Given the description of an element on the screen output the (x, y) to click on. 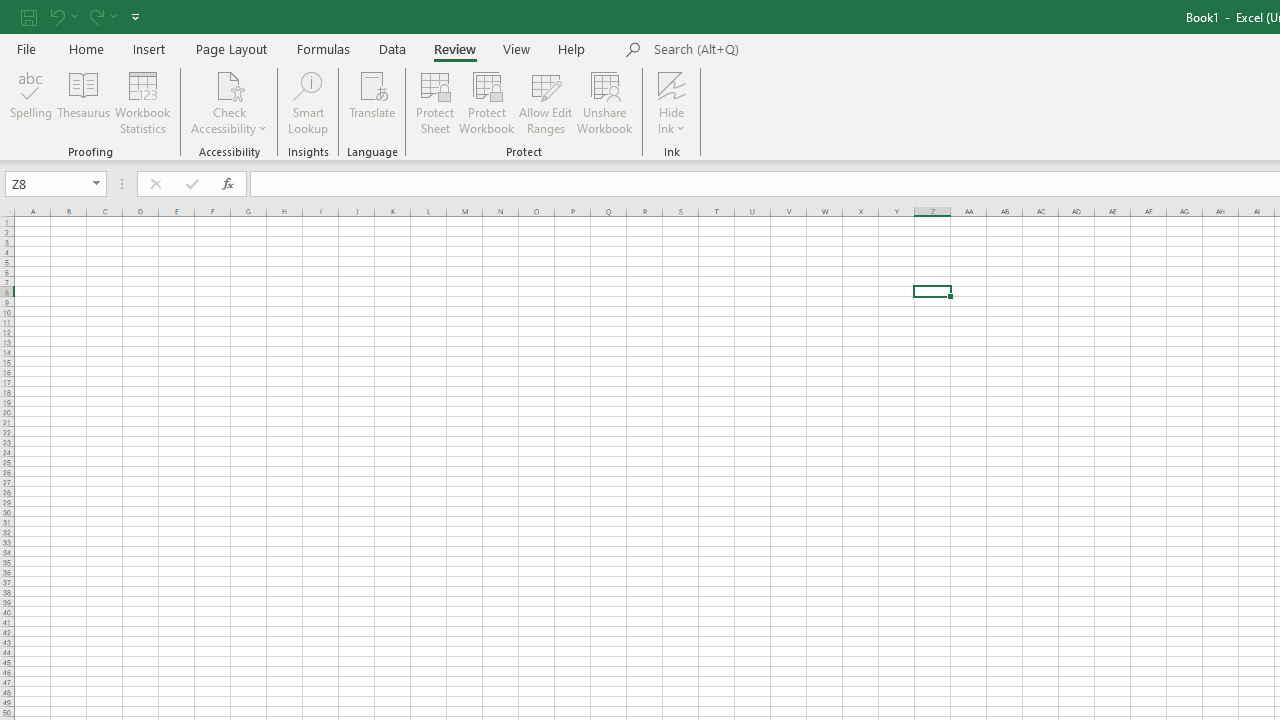
Workbook Statistics (142, 102)
Thesaurus... (83, 102)
Spelling... (31, 102)
